Given the description of an element on the screen output the (x, y) to click on. 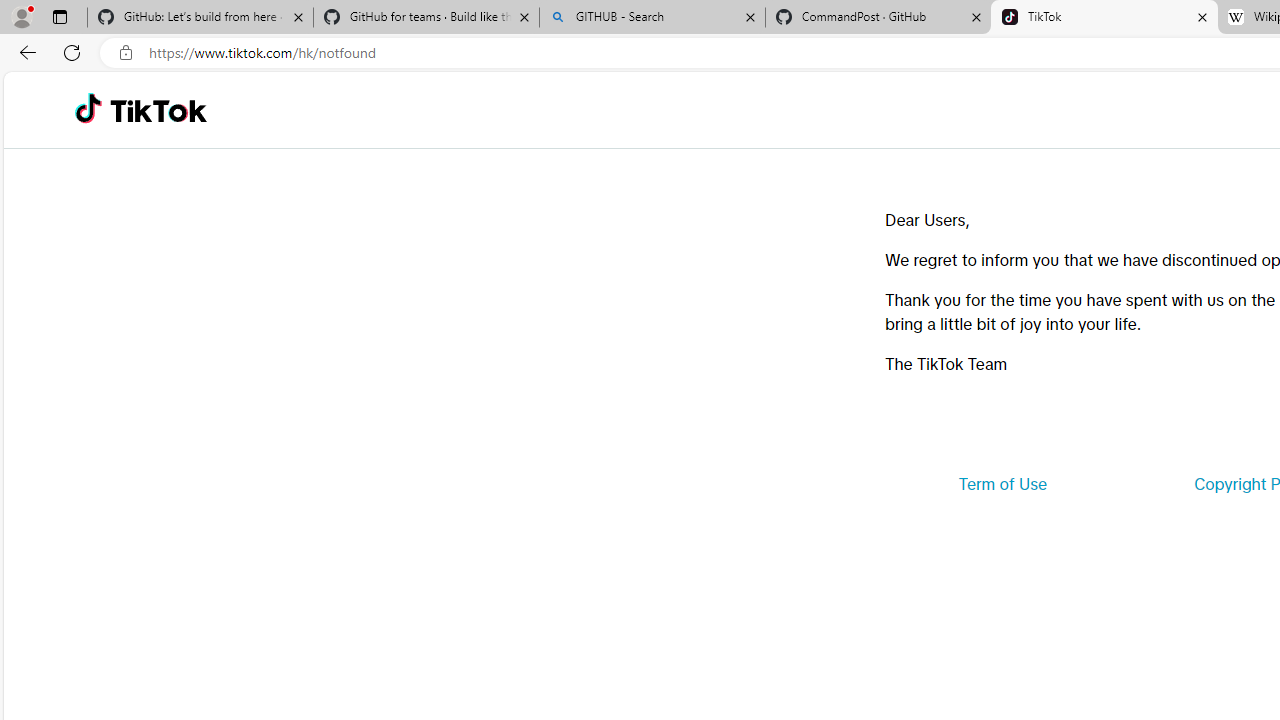
Term of Use (1002, 484)
GITHUB - Search (652, 17)
TikTok (1104, 17)
TikTok (158, 110)
